Given the description of an element on the screen output the (x, y) to click on. 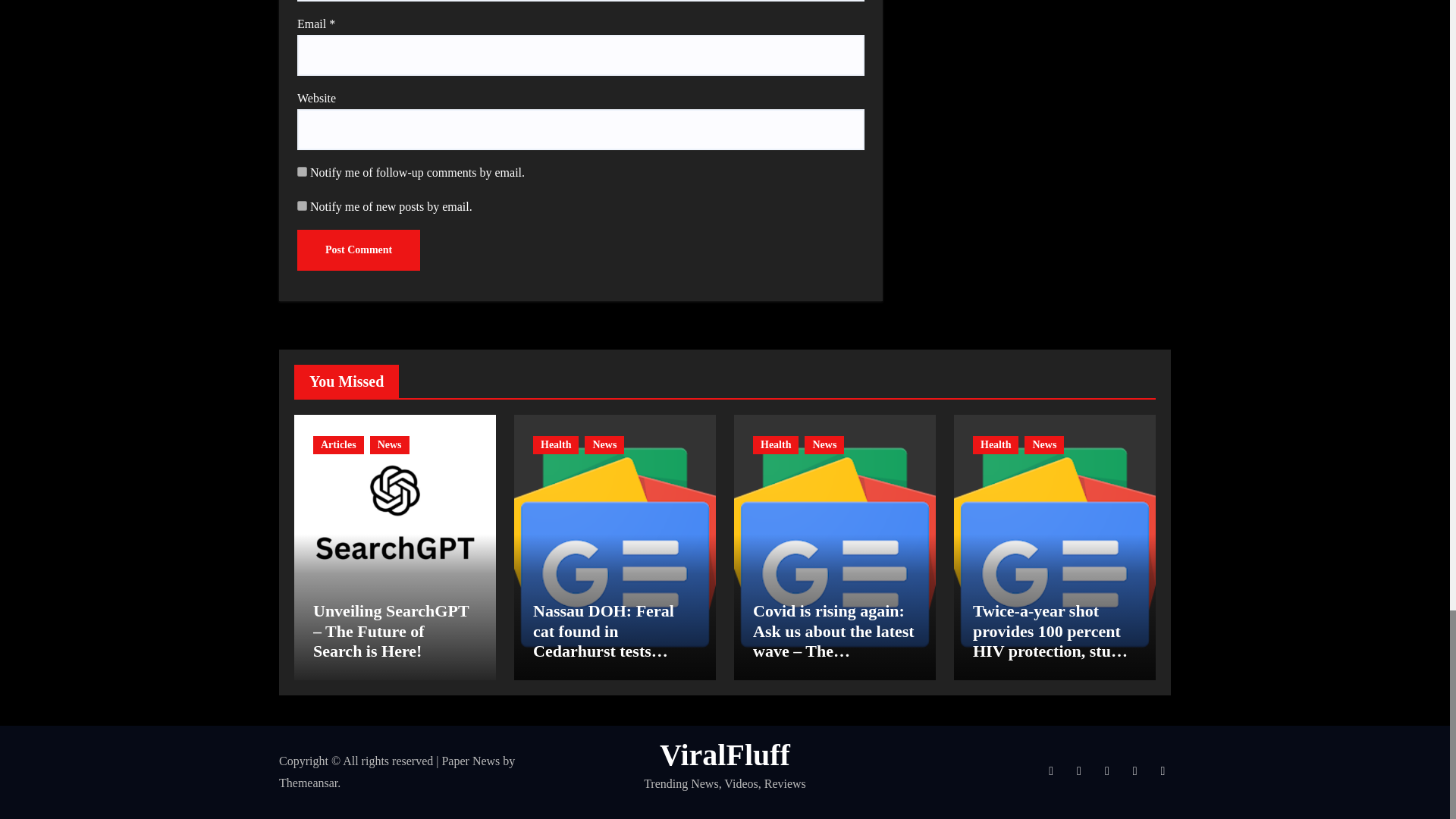
subscribe (302, 205)
Post Comment (358, 250)
subscribe (302, 171)
